Given the description of an element on the screen output the (x, y) to click on. 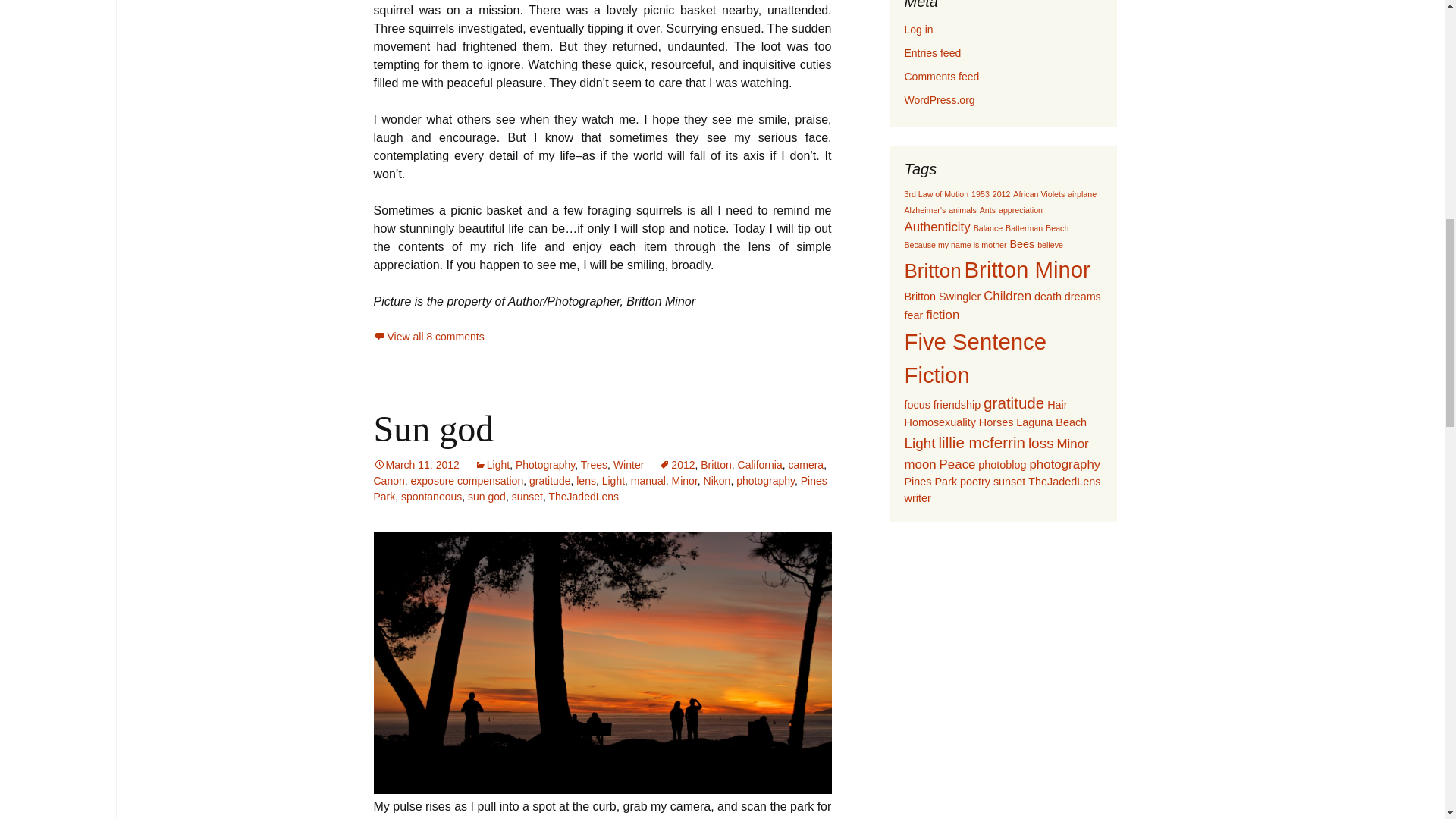
Nikon (716, 480)
Photography (545, 464)
Light (491, 464)
manual (647, 480)
Pines Park Sunset w-people (601, 662)
TheJadedLens (583, 496)
Canon (388, 480)
camera (805, 464)
spontaneous (431, 496)
gratitude (549, 480)
